Given the description of an element on the screen output the (x, y) to click on. 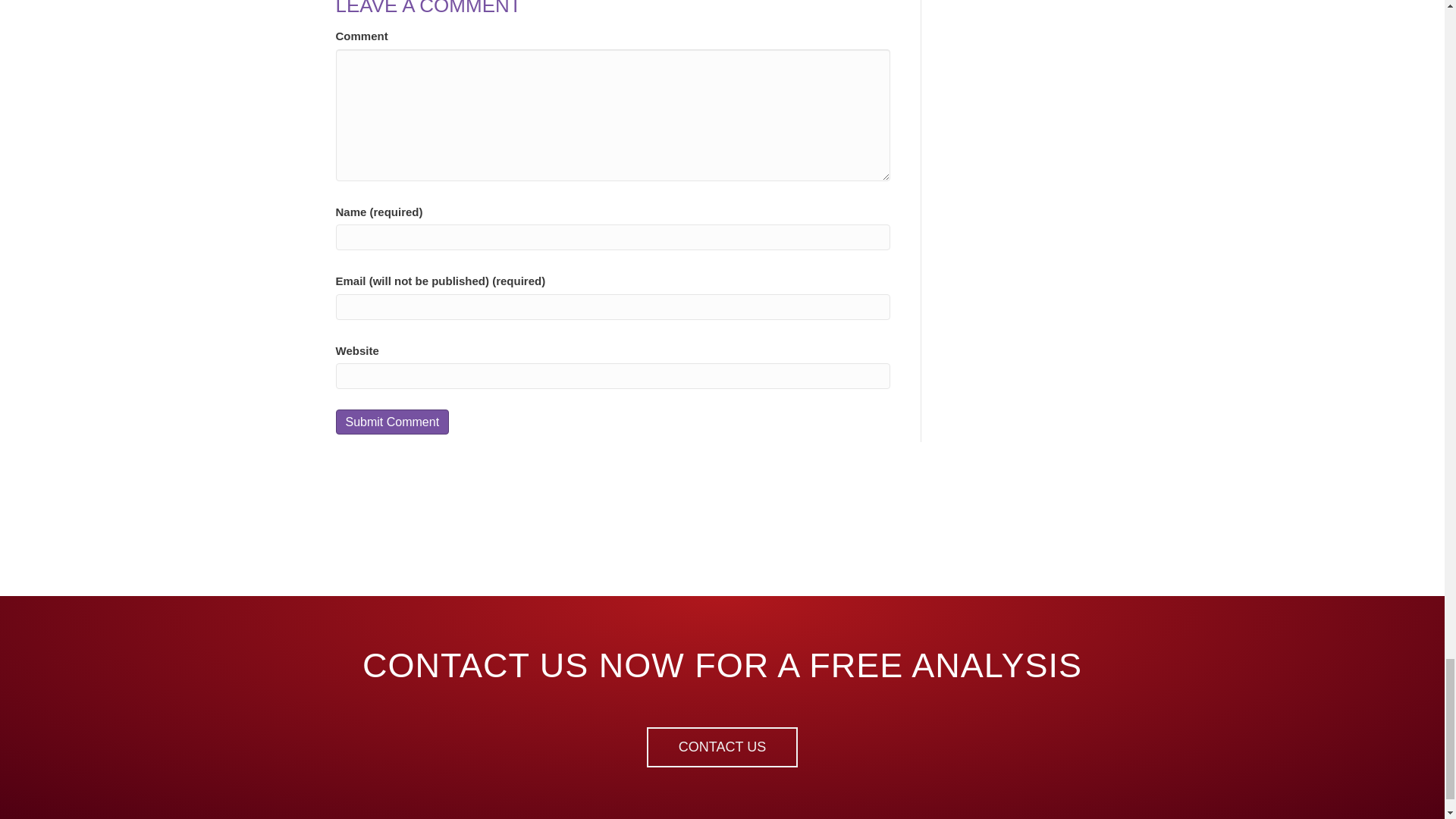
Submit Comment (391, 421)
CONTACT US (721, 747)
Submit Comment (391, 421)
